Given the description of an element on the screen output the (x, y) to click on. 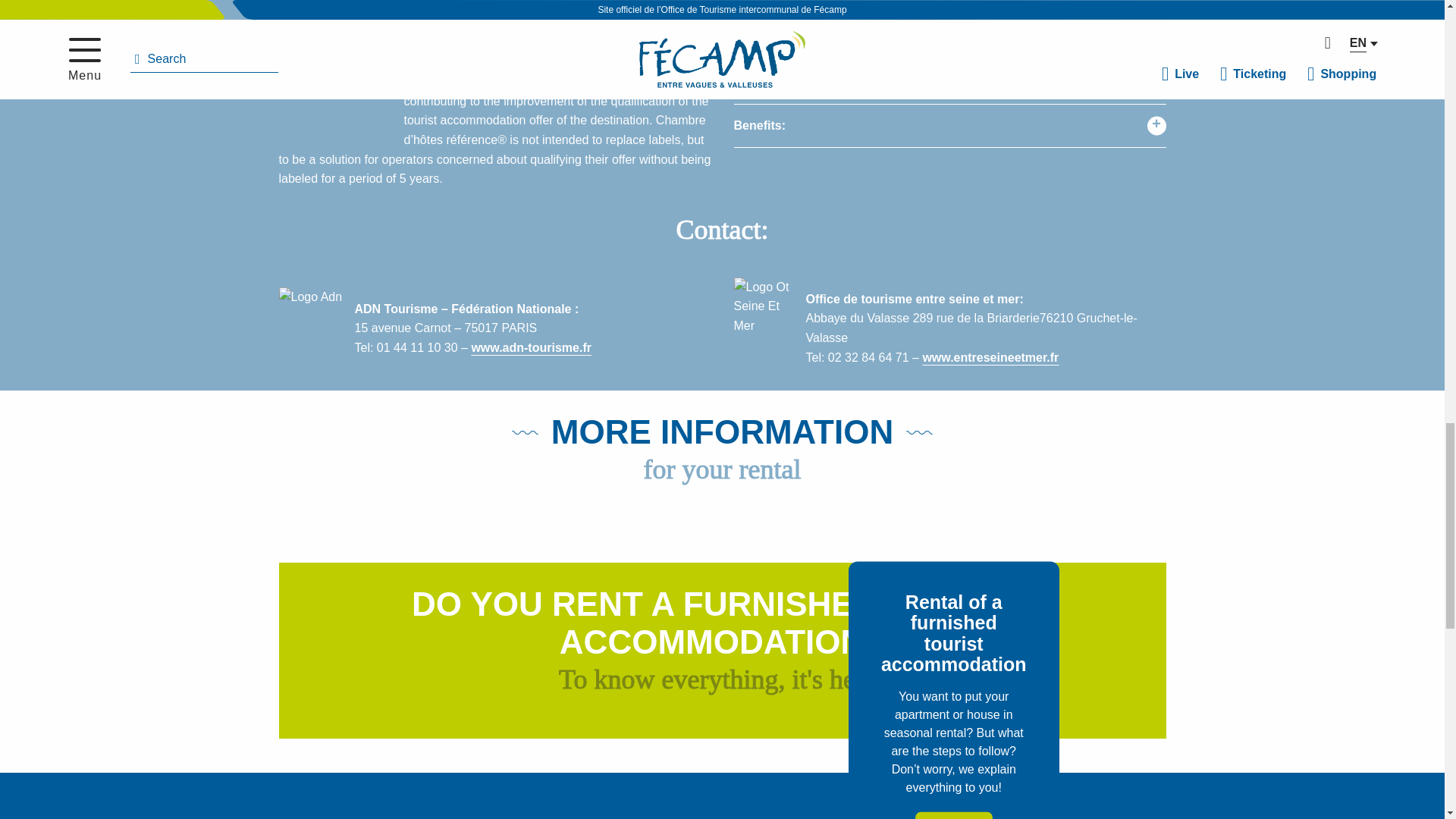
www.adn-tourisme.fr (530, 347)
Procedure: (949, 82)
www.entreseineetmer.fr (989, 357)
Benefits: (949, 126)
